Given the description of an element on the screen output the (x, y) to click on. 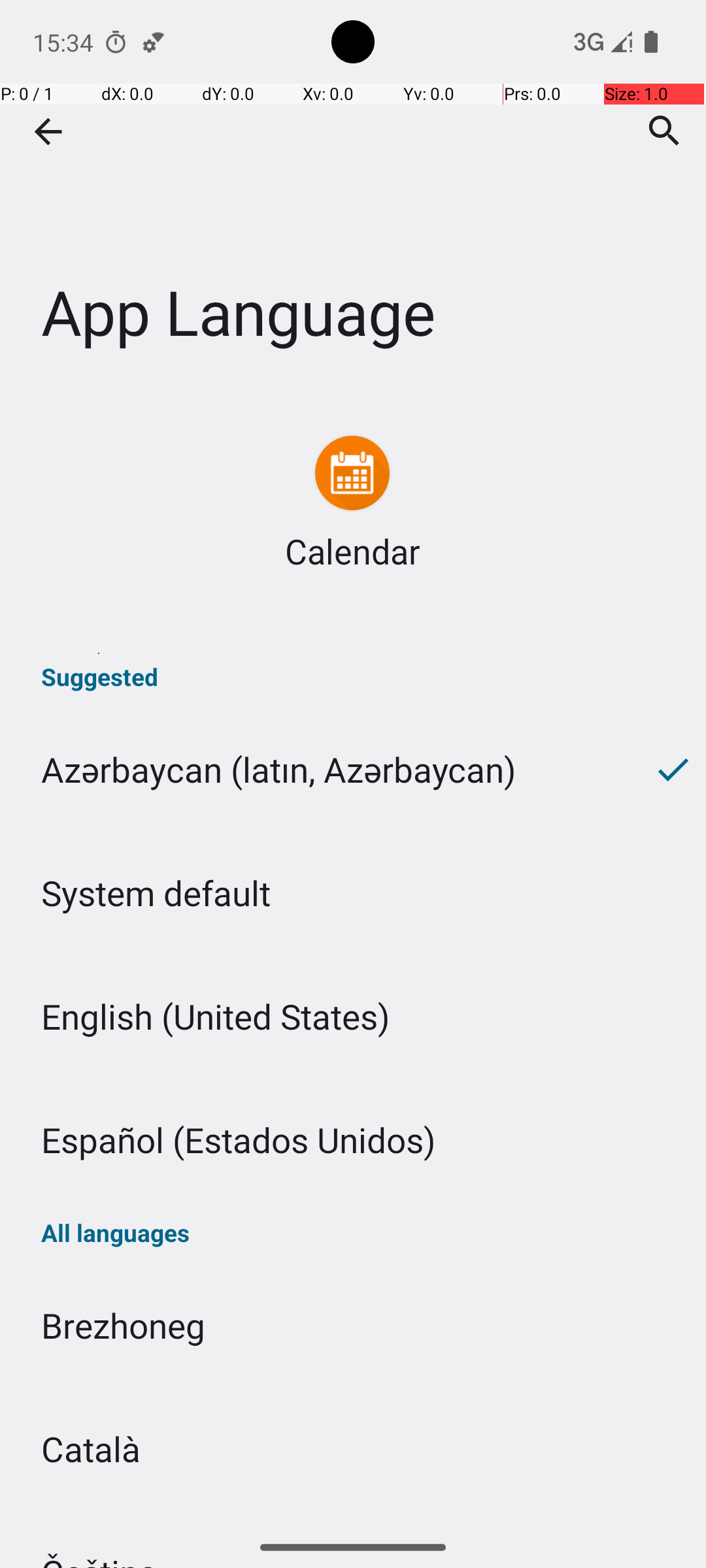
Azərbaycan (latın, Azərbaycan) Element type: android.widget.TextView (320, 769)
